Given the description of an element on the screen output the (x, y) to click on. 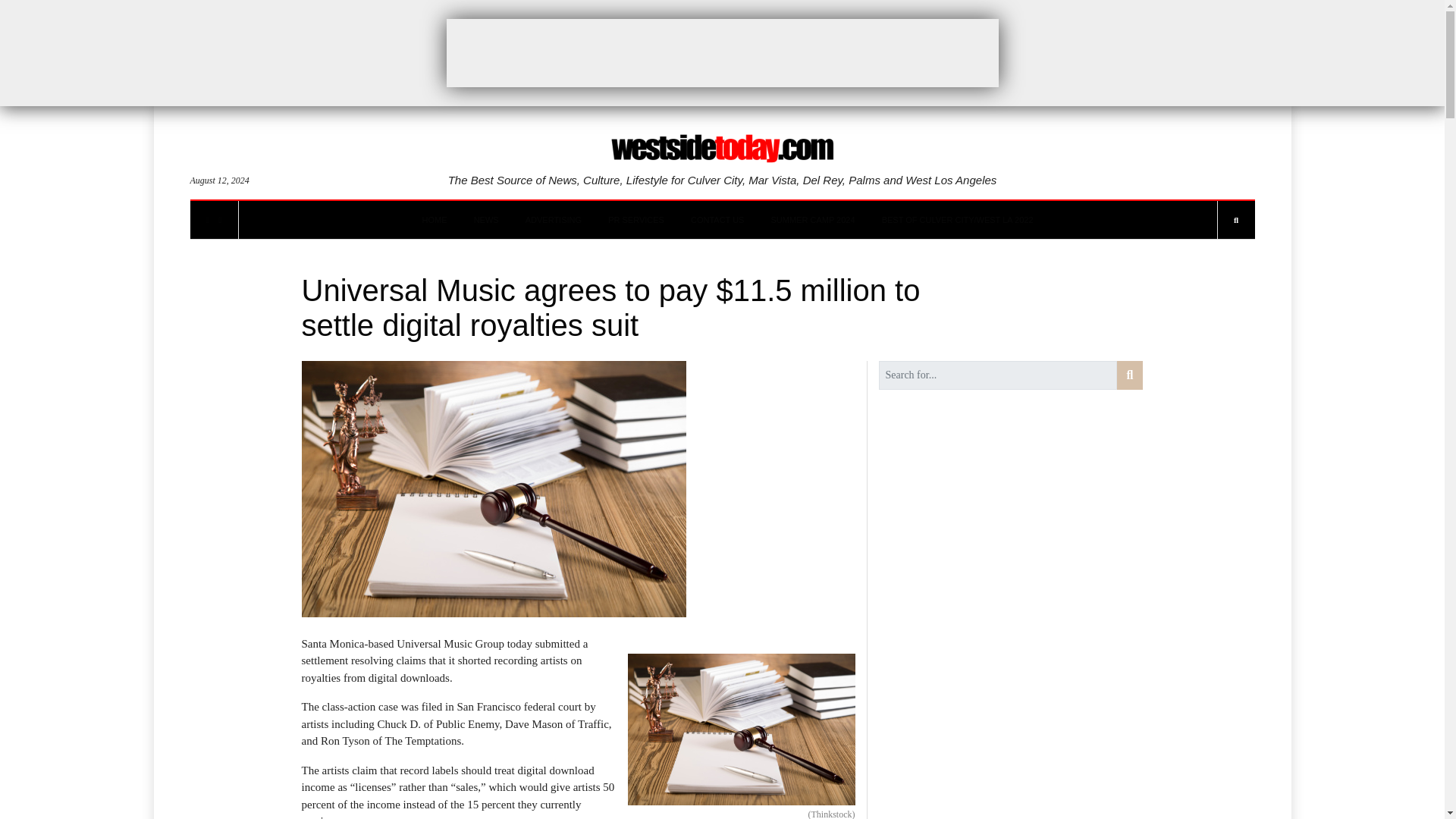
3rd party ad content (721, 52)
CONTACT US (717, 219)
ADVERTISING (552, 219)
PR SERVICES (635, 219)
SUMMER CAMP 2024 (813, 219)
